Given the description of an element on the screen output the (x, y) to click on. 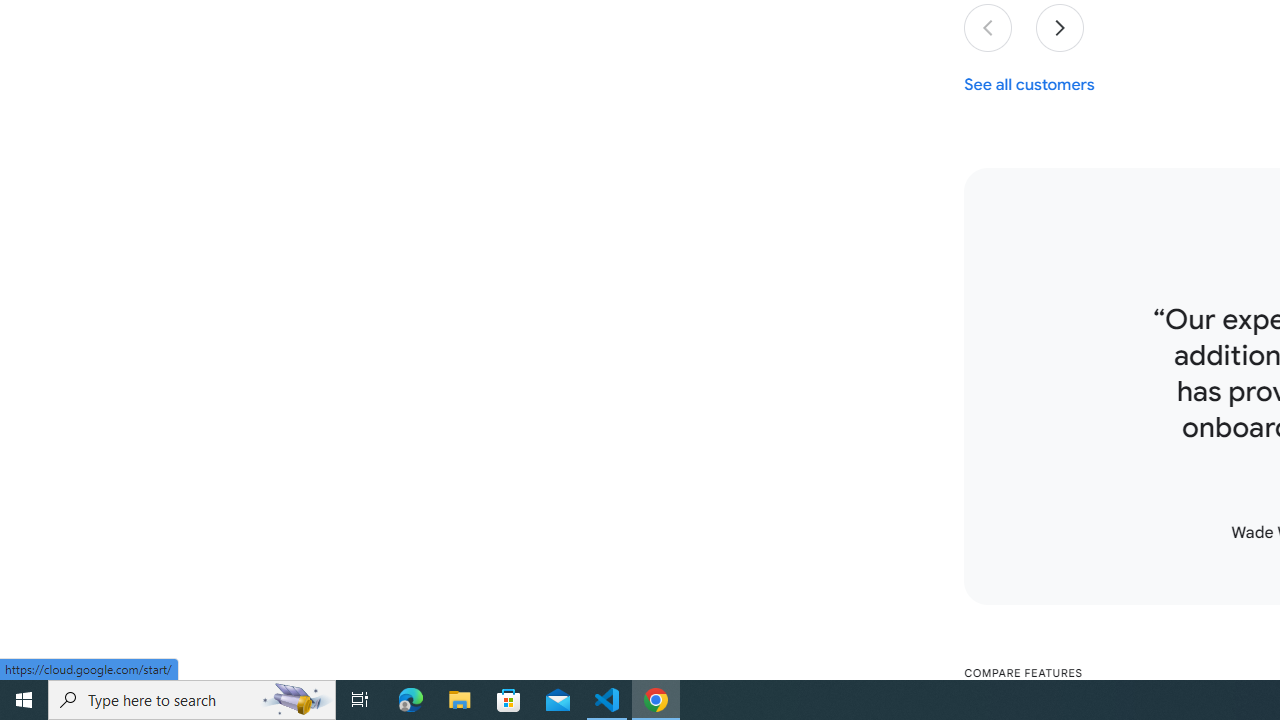
See all customers (1029, 83)
Next slide (1060, 27)
Previous slide (987, 27)
